Given the description of an element on the screen output the (x, y) to click on. 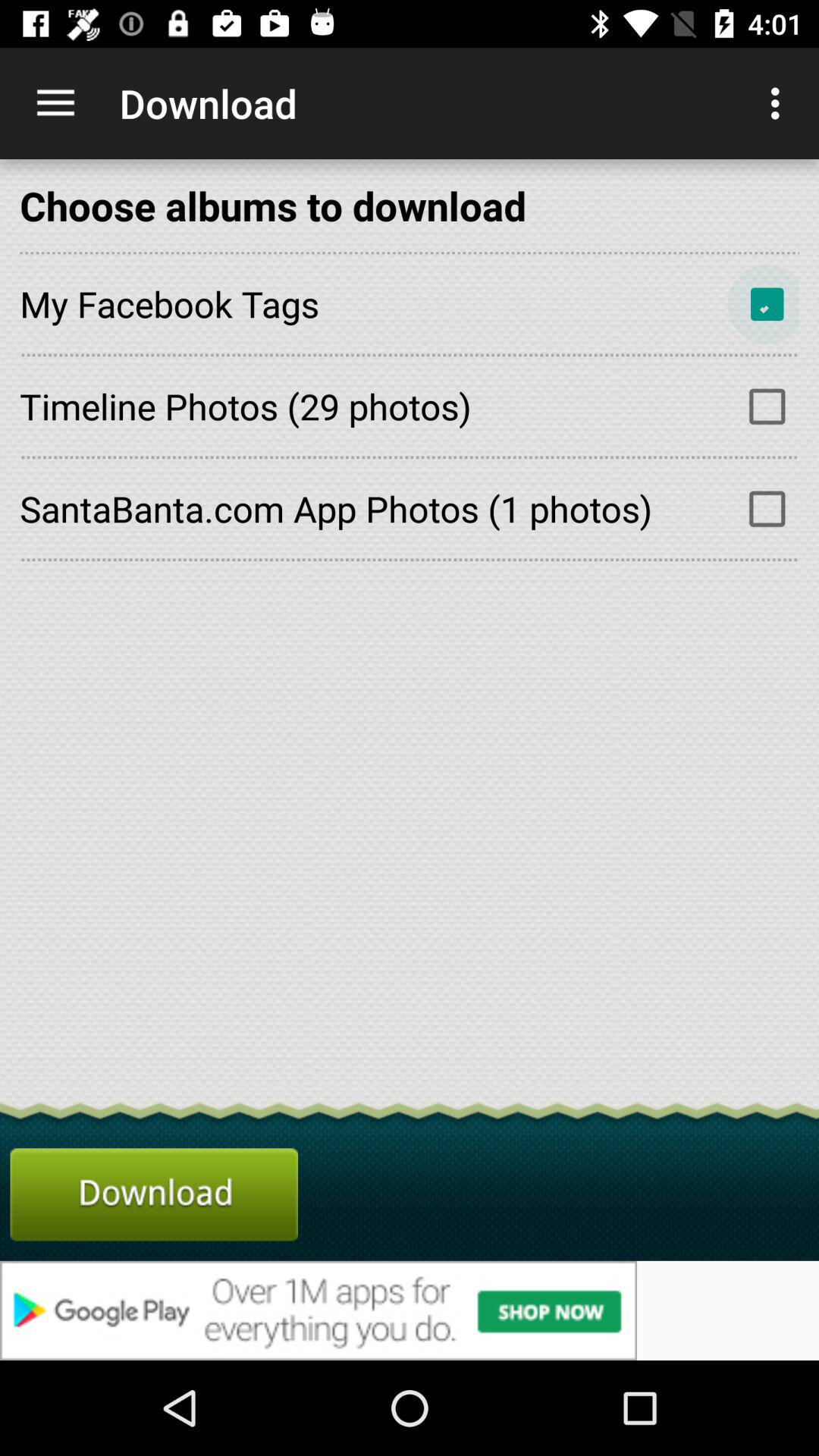
click to go to google play (409, 1310)
